Given the description of an element on the screen output the (x, y) to click on. 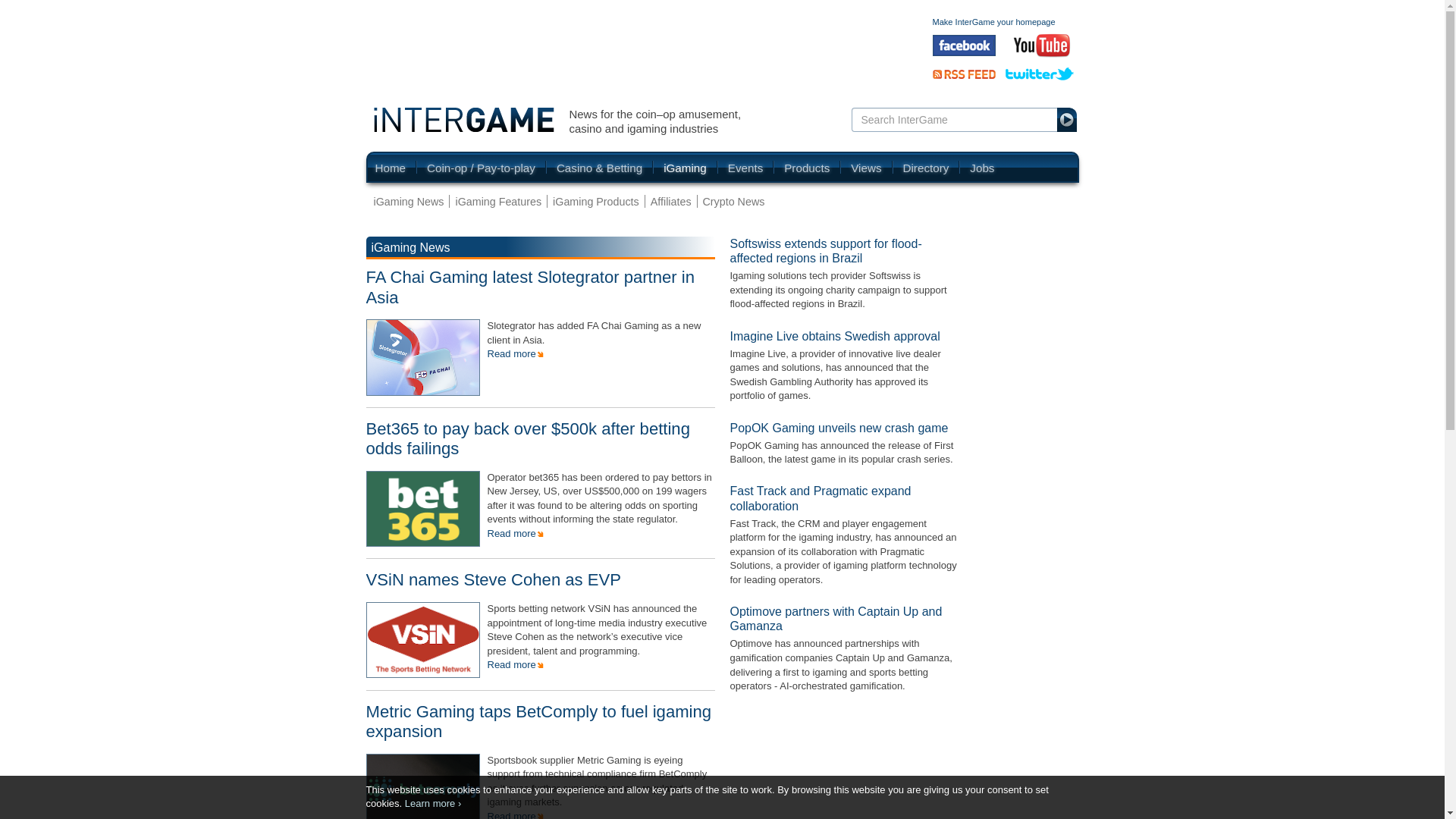
Go! (1067, 119)
Jobs (976, 166)
VSiN names Steve Cohen as EVP (493, 579)
Make InterGame your homepage (994, 21)
Youtube (1041, 45)
Directory (925, 166)
iGaming News (410, 200)
Read more (514, 814)
Home (395, 166)
iGaming (684, 166)
